Given the description of an element on the screen output the (x, y) to click on. 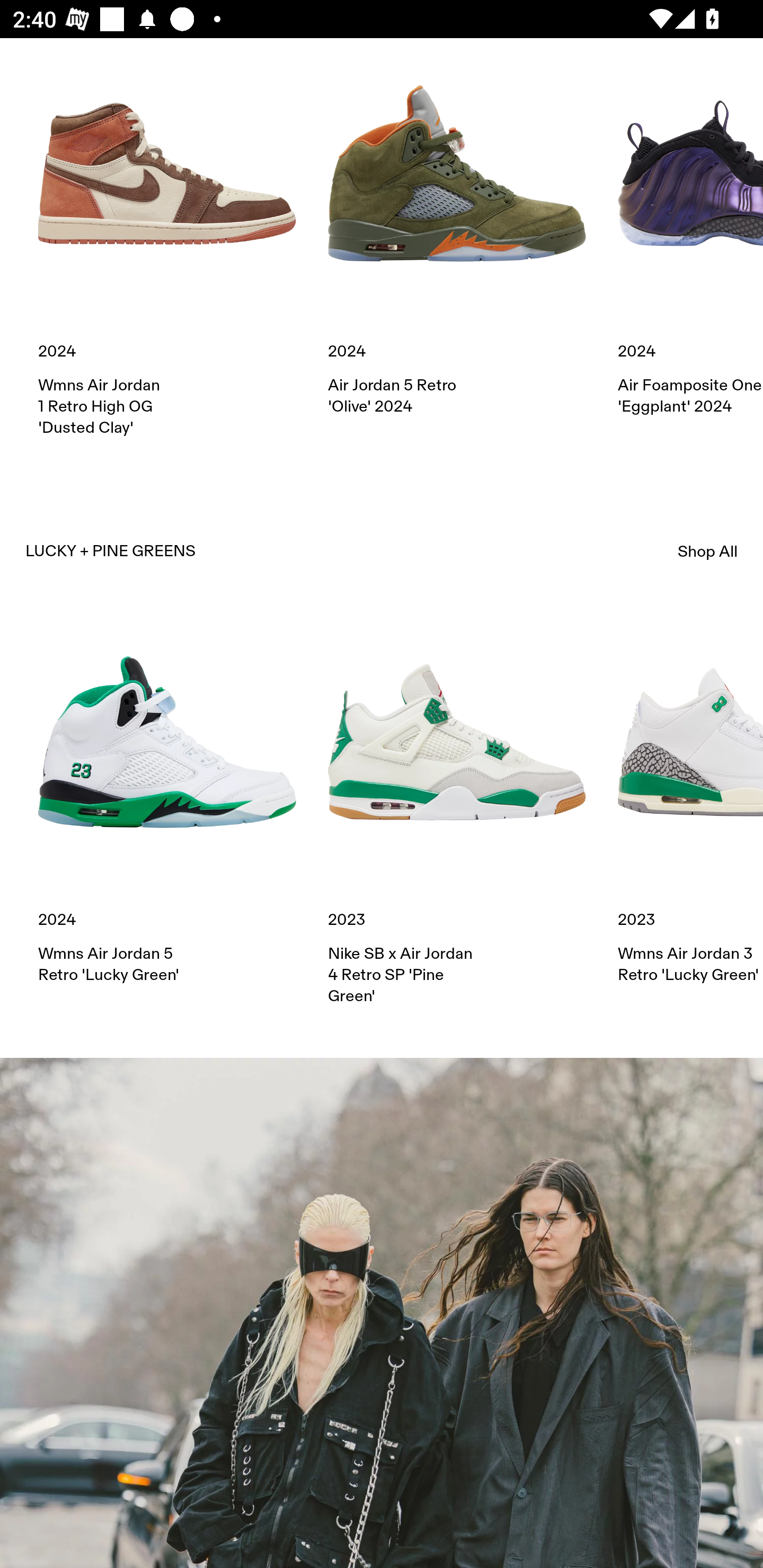
2024 Wmns Air Jordan 1 Retro High OG 'Dusted Clay' (167, 241)
2024 Air Jordan 5 Retro 'Olive' 2024 (456, 230)
2024 Air Foamposite One 'Eggplant' 2024 (690, 230)
Shop All (707, 550)
2024 Wmns Air Jordan 5 Retro 'Lucky Green' (167, 799)
2023 Nike SB x Air Jordan 4 Retro SP 'Pine Green' (456, 809)
2023 Wmns Air Jordan 3 Retro 'Lucky Green' (690, 799)
